Given the description of an element on the screen output the (x, y) to click on. 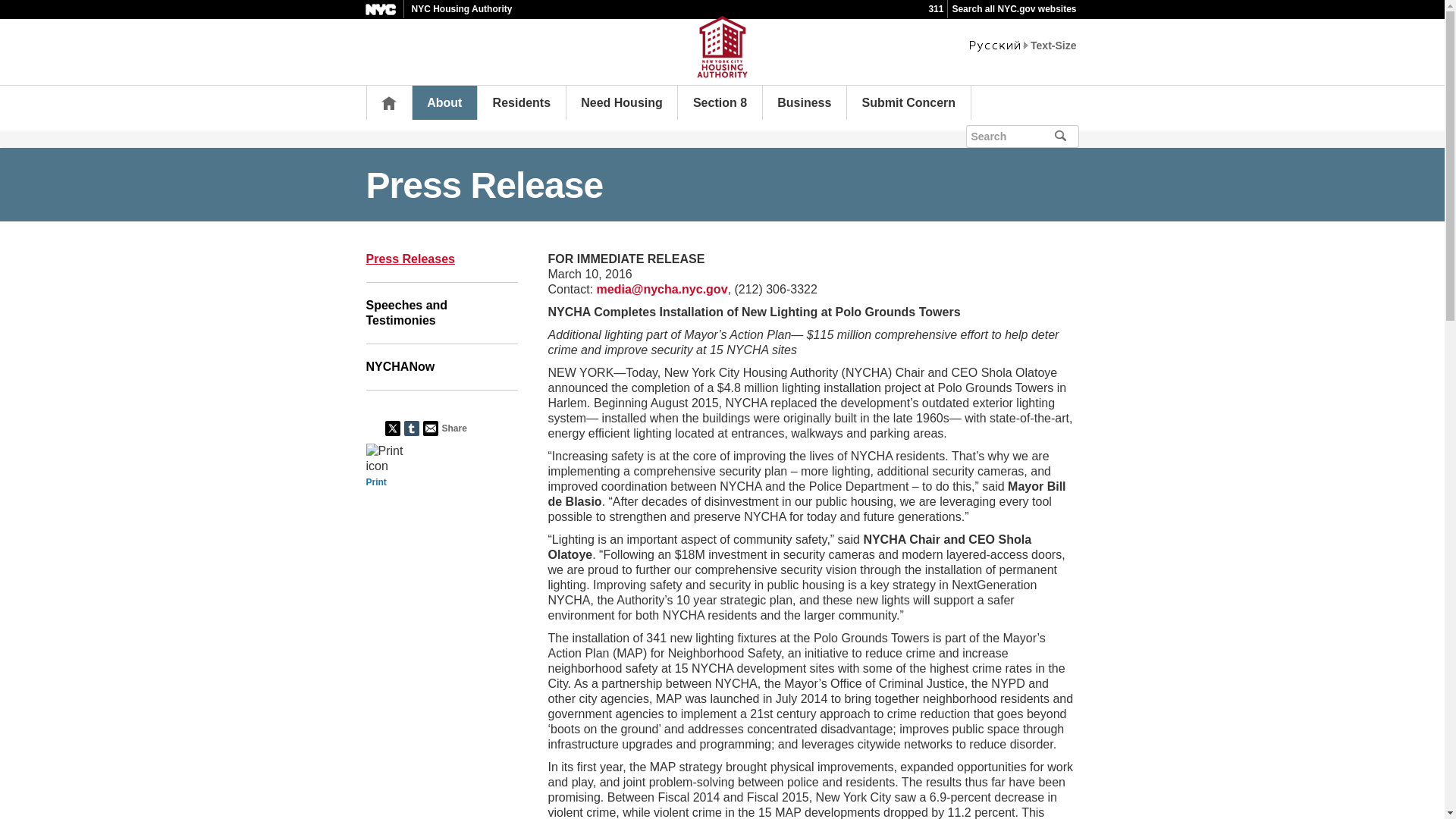
submit (1066, 136)
Home (388, 102)
Section 8 (719, 102)
submit (1081, 134)
NYCHANow (440, 366)
Business (804, 102)
Need Housing (621, 102)
Residents (521, 102)
Speeches and Testimonies (440, 312)
Press Releases (440, 259)
submit (1066, 136)
submit (1066, 136)
About (443, 102)
Search all NYC.gov websites (1013, 9)
Submit Concern (908, 102)
